Given the description of an element on the screen output the (x, y) to click on. 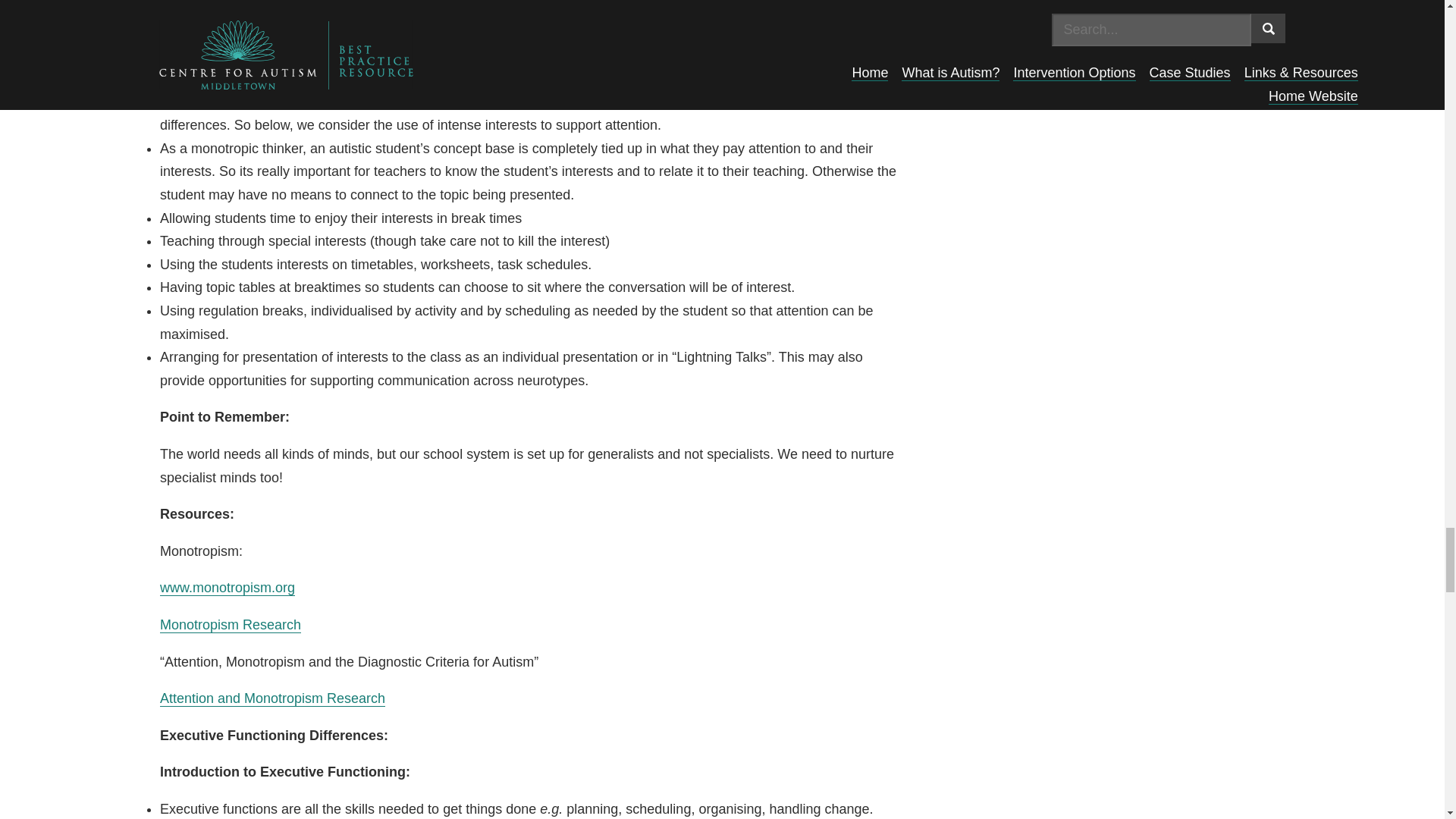
Monotropism Research (230, 625)
Attention and Monotropism Research (272, 698)
www.monotropism.org (227, 587)
